Given the description of an element on the screen output the (x, y) to click on. 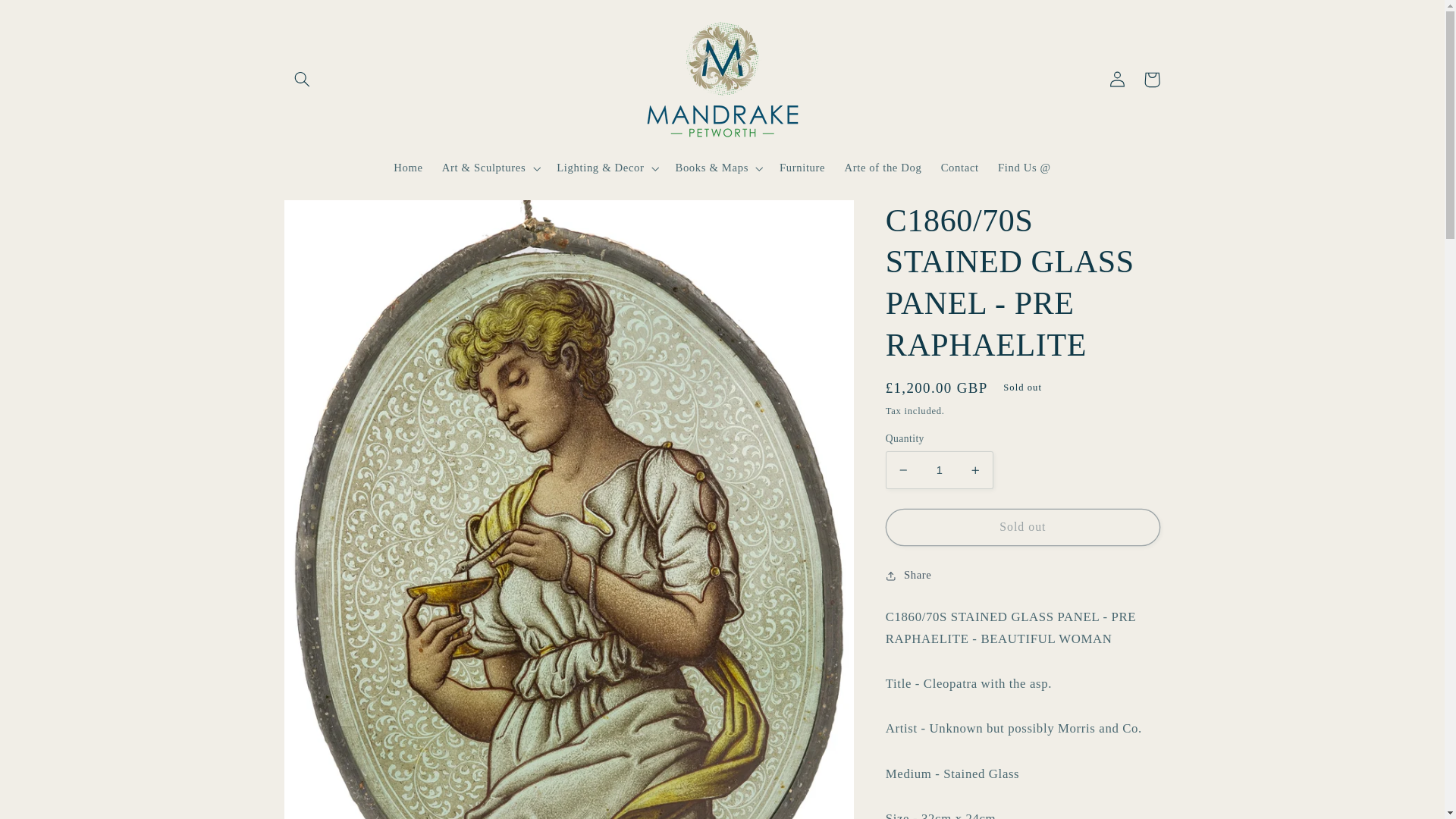
Skip to content (48, 18)
Home (408, 168)
1 (939, 469)
